Given the description of an element on the screen output the (x, y) to click on. 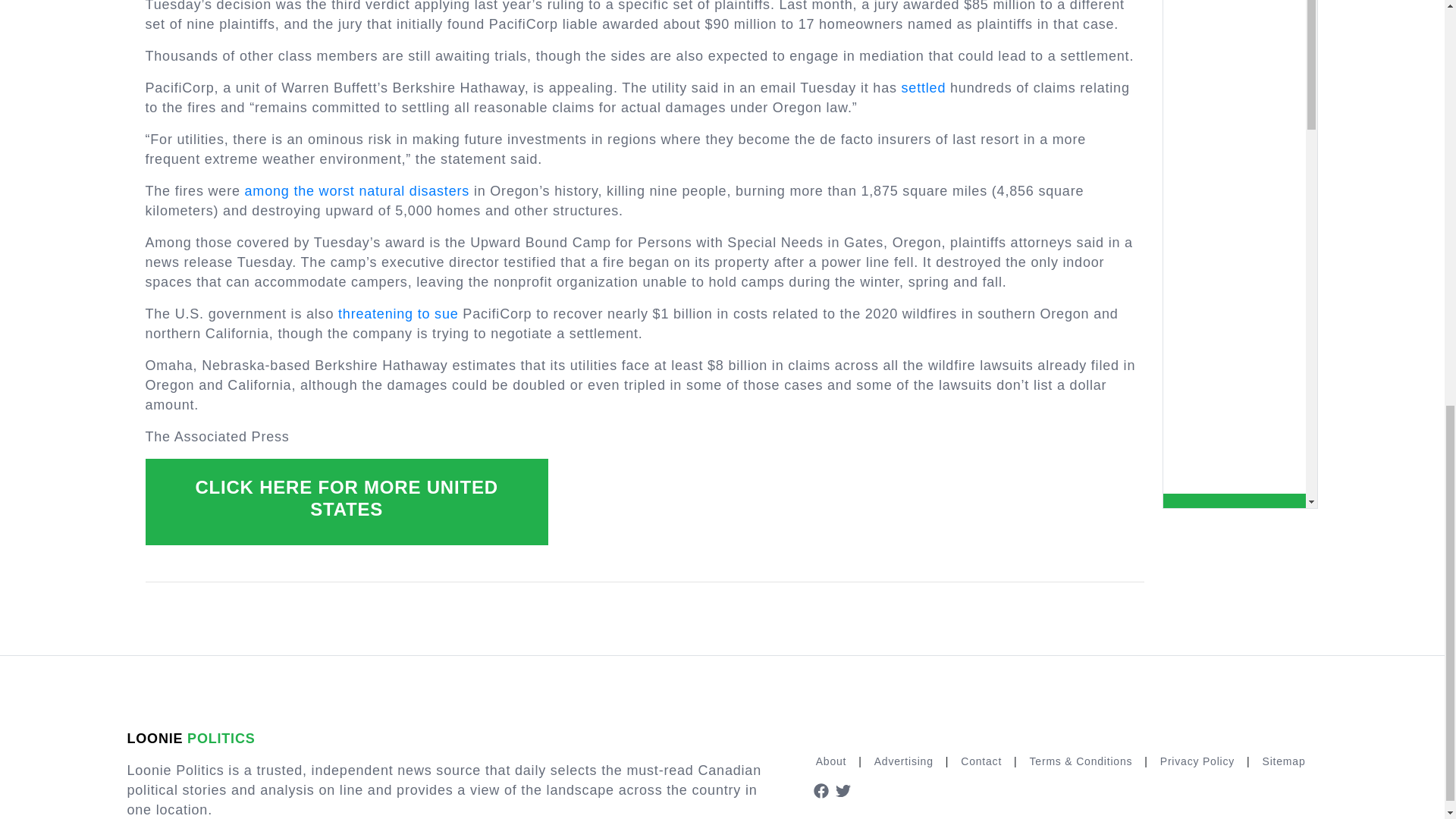
Contact (981, 760)
Sitemap (1283, 760)
settled (923, 87)
About (831, 760)
Privacy Policy (1197, 760)
Advertising (902, 760)
threatening to sue (397, 313)
among the worst natural disasters (357, 191)
